Given the description of an element on the screen output the (x, y) to click on. 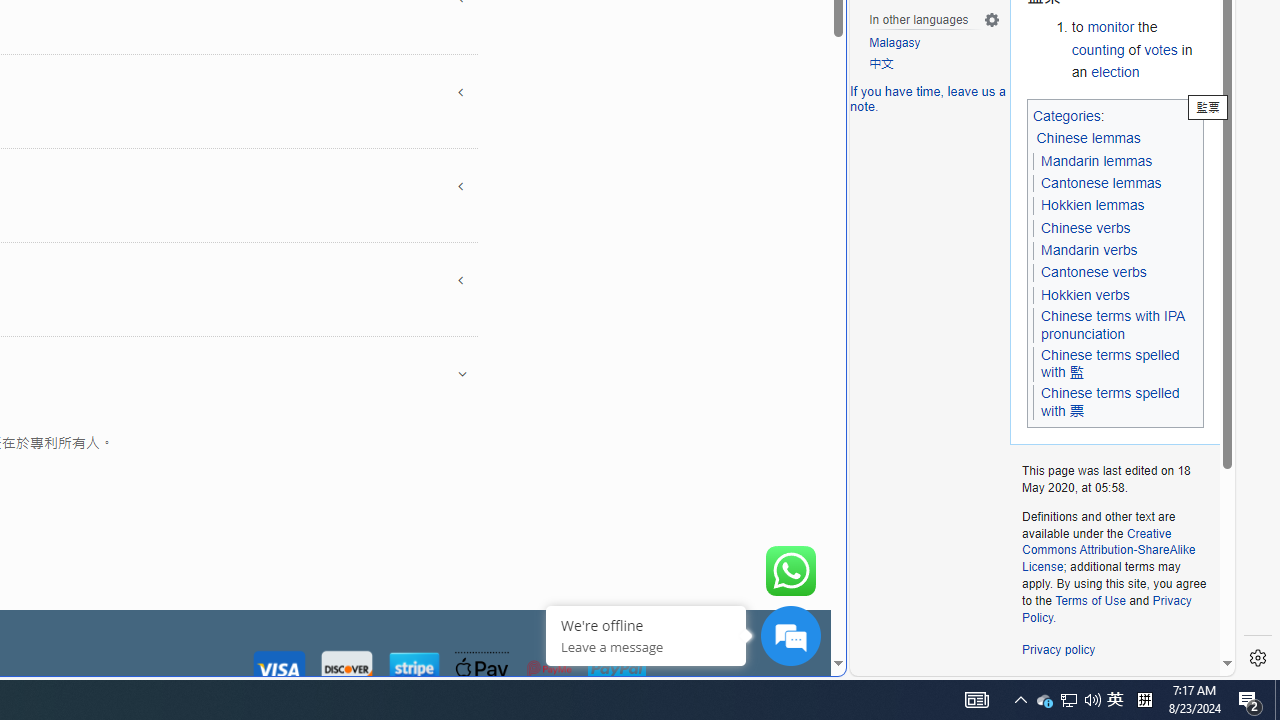
Cantonese lemmas (1101, 182)
